Given the description of an element on the screen output the (x, y) to click on. 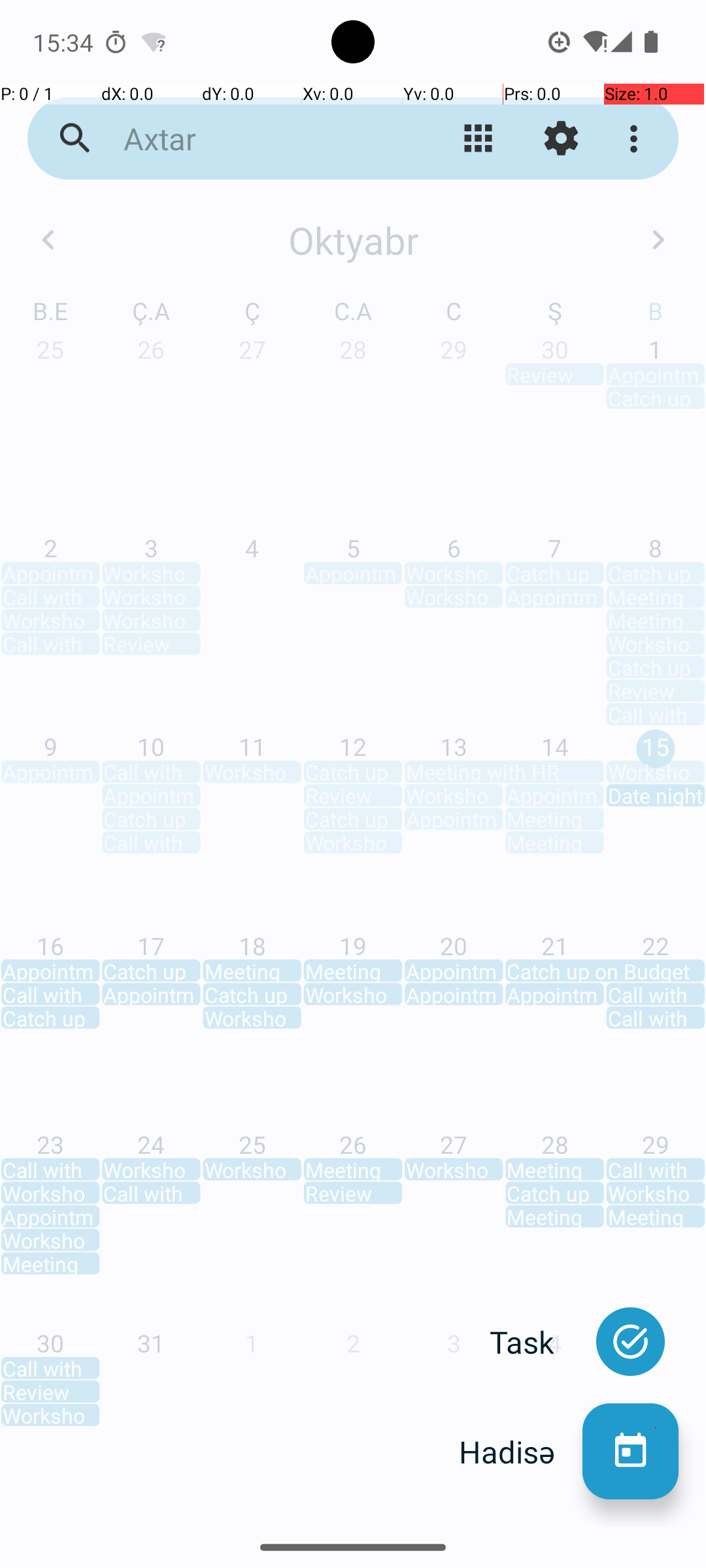
Hadisə Element type: android.widget.TextView (520, 1451)
Oktyabr Element type: android.widget.TextView (352, 239)
